Given the description of an element on the screen output the (x, y) to click on. 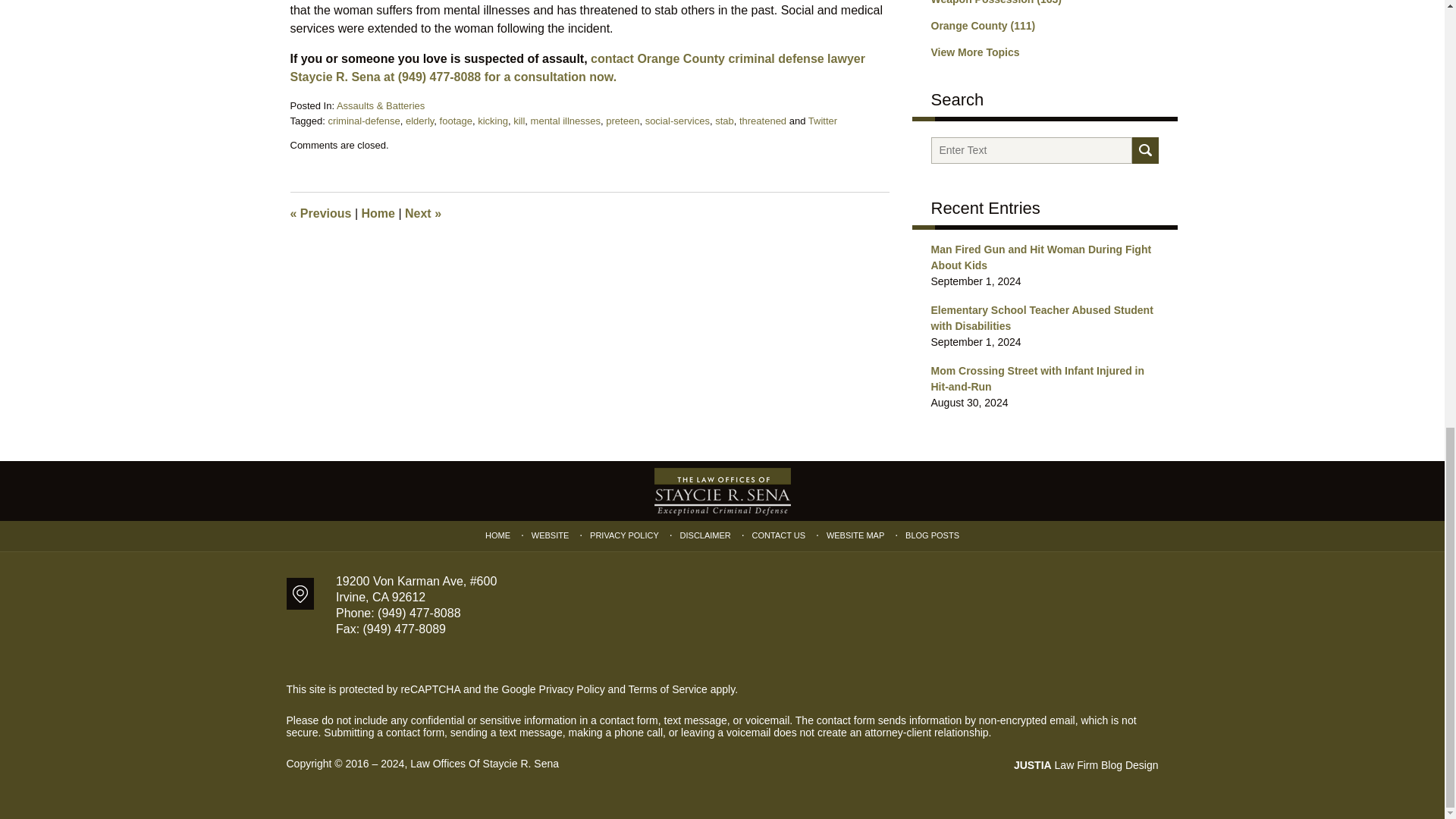
View all posts tagged with elderly (419, 120)
kicking (492, 120)
Home (377, 213)
View all posts tagged with mental illnesses (566, 120)
View all posts tagged with stab (723, 120)
View all posts tagged with preteen (622, 120)
stab (723, 120)
mental illnesses (566, 120)
threatened (762, 120)
Twitter (822, 120)
